Given the description of an element on the screen output the (x, y) to click on. 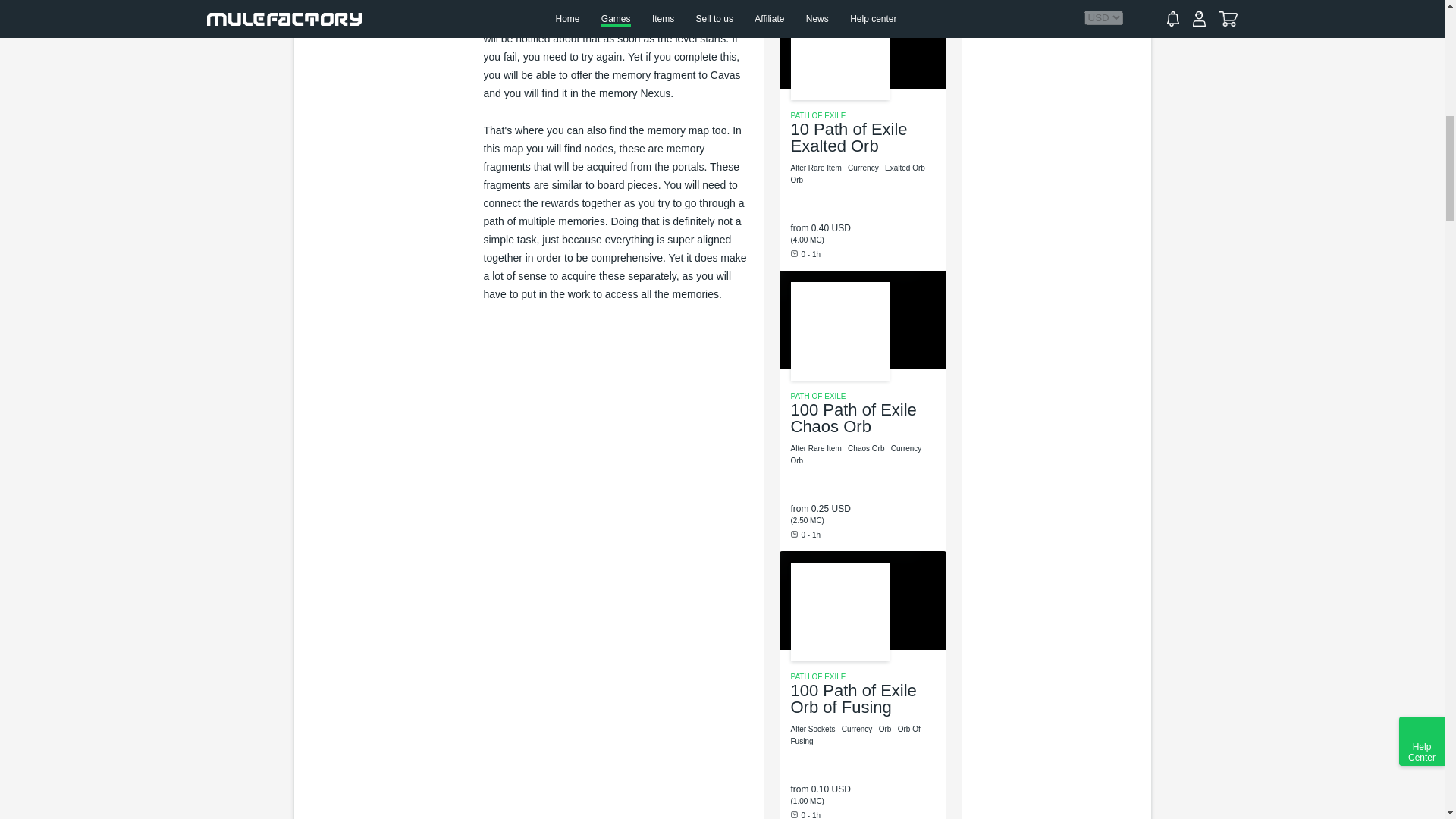
10 Path of Exile Exalted Orb (848, 137)
More items in Path of Exile Orb category (797, 460)
Currency (863, 167)
More items in Path of Exile Alter Rare Item category (816, 448)
More items in Path of Exile Currency category (863, 167)
Alter Rare Item (816, 167)
More items in Path of Exile Orb category (886, 728)
0.25 USD or 2.50 MC (830, 508)
Alter Rare Item (816, 448)
More items in Path of Exile Currency category (907, 448)
More items in Path of Exile Currency category (858, 728)
More items in Path of Exile Orb Of Fusing category (855, 734)
Chaos Orb (866, 448)
More items in Path of Exile Alter Rare Item category (816, 167)
Average delivery time is 0 - 1h (805, 254)
